Given the description of an element on the screen output the (x, y) to click on. 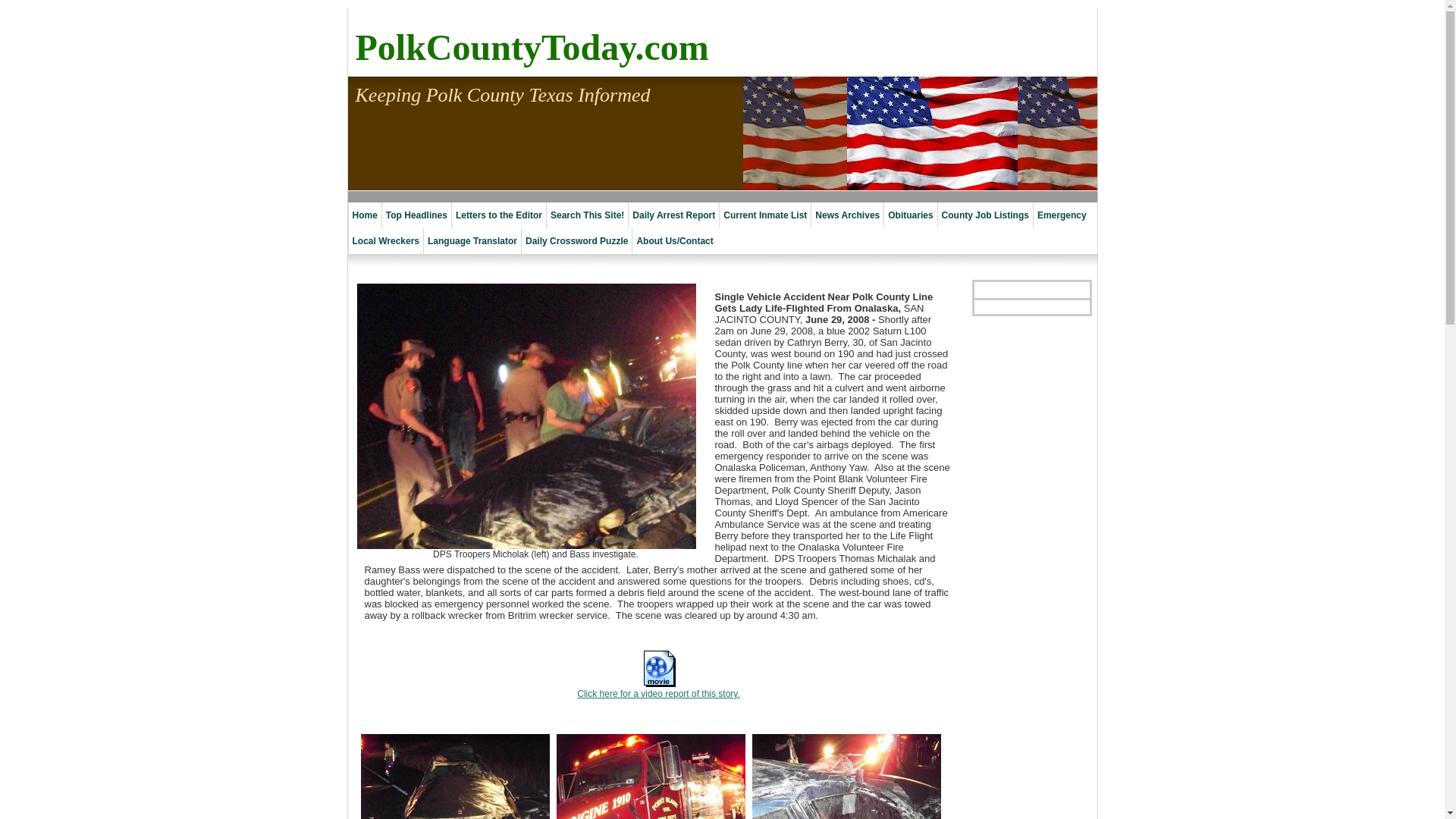
Language Translator (472, 240)
Daily Arrest Report (673, 215)
Emergency (1061, 215)
News Archives (846, 215)
Home (363, 215)
County Job Listings (984, 215)
Current Inmate List (764, 215)
Obituaries (909, 215)
Local Wreckers (385, 240)
Top Headlines (416, 215)
